Given the description of an element on the screen output the (x, y) to click on. 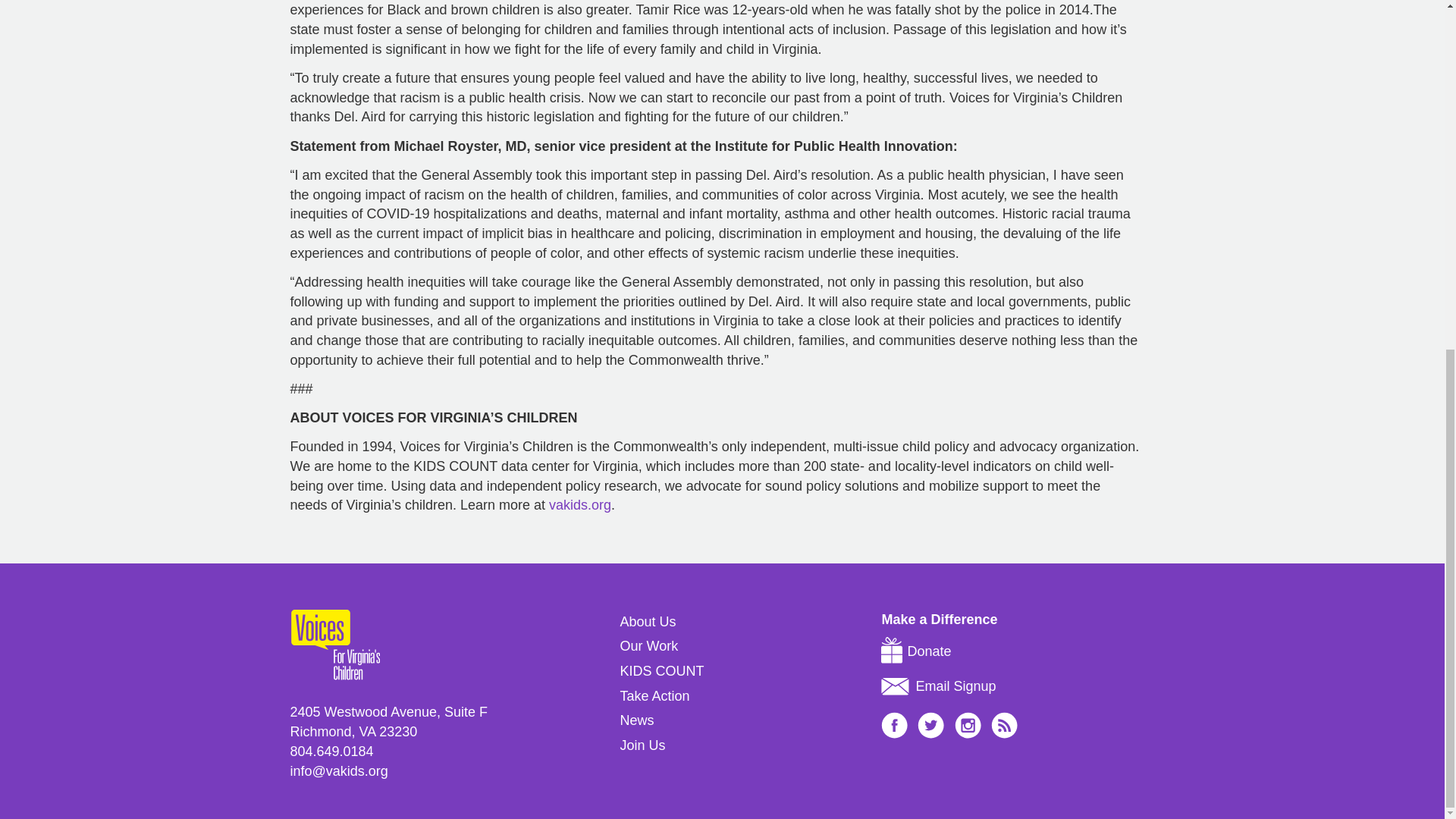
Page 2 (713, 447)
Page 2 (713, 476)
